Given the description of an element on the screen output the (x, y) to click on. 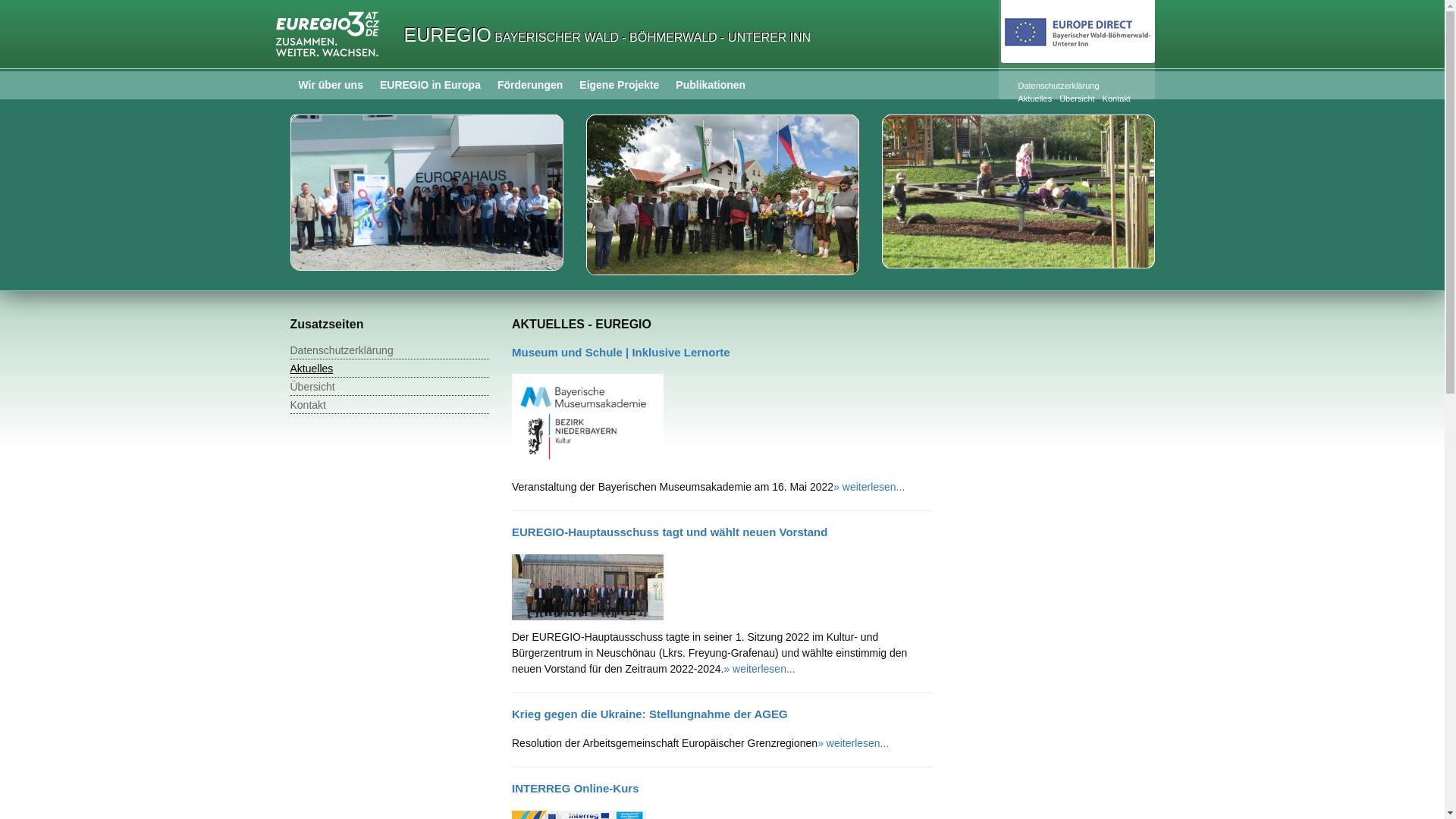
Aktuelles Element type: text (389, 368)
Museum und Schule | Inklusive Lernorte Element type: hover (587, 421)
Publikationen Element type: text (710, 84)
INTERREG Online-Kurs Element type: text (575, 787)
Museum und Schule | Inklusive Lernorte Element type: text (620, 351)
Kontakt Element type: text (389, 405)
Kontakt Element type: text (1116, 98)
Aktuelles Element type: text (1035, 98)
Krieg gegen die Ukraine: Stellungnahme der AGEG Element type: text (649, 713)
Eigene Projekte Element type: text (619, 84)
EUREGIO in Europa Element type: text (430, 84)
